Given the description of an element on the screen output the (x, y) to click on. 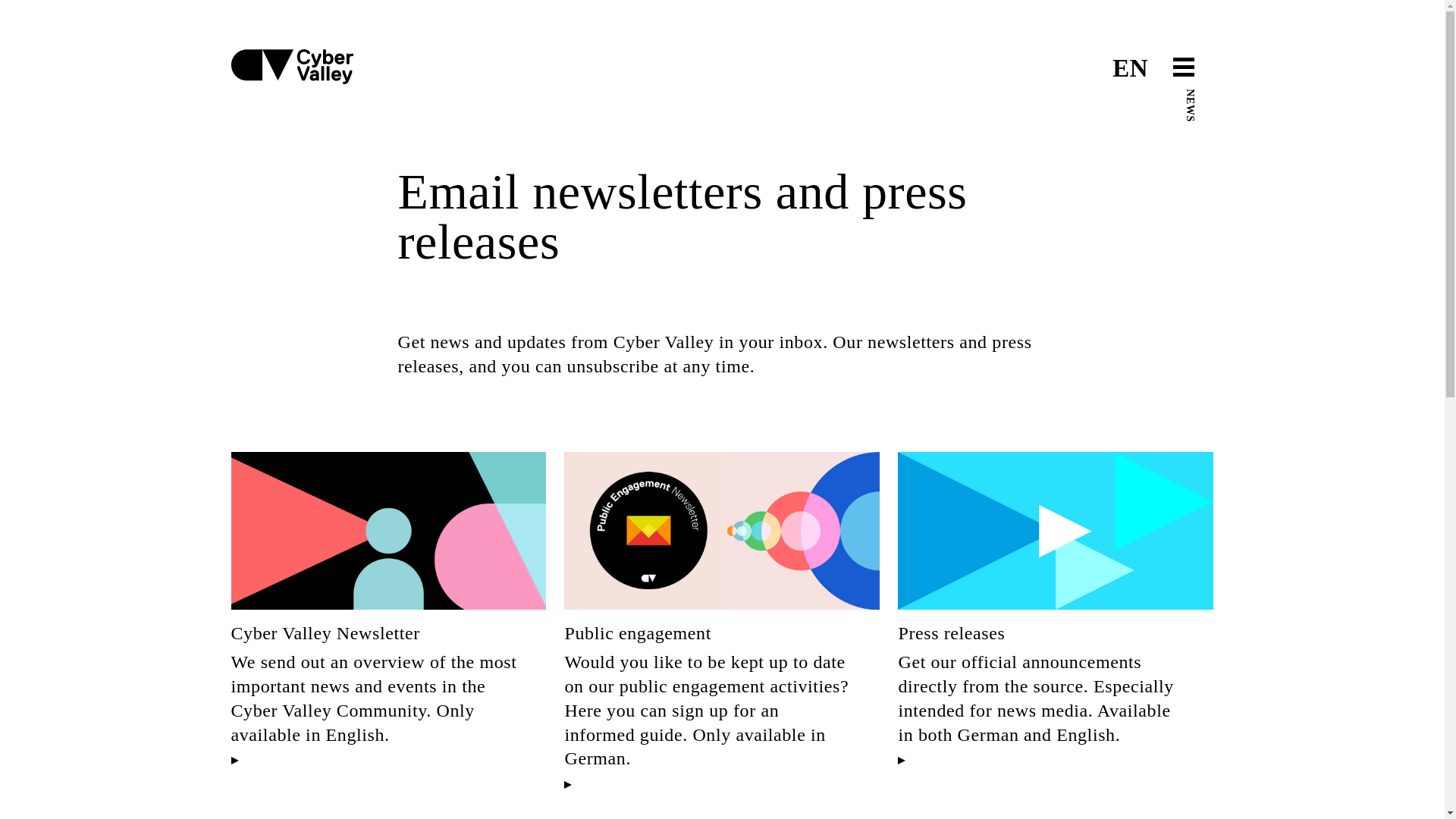
EN (1130, 67)
NEWS (1201, 93)
